Given the description of an element on the screen output the (x, y) to click on. 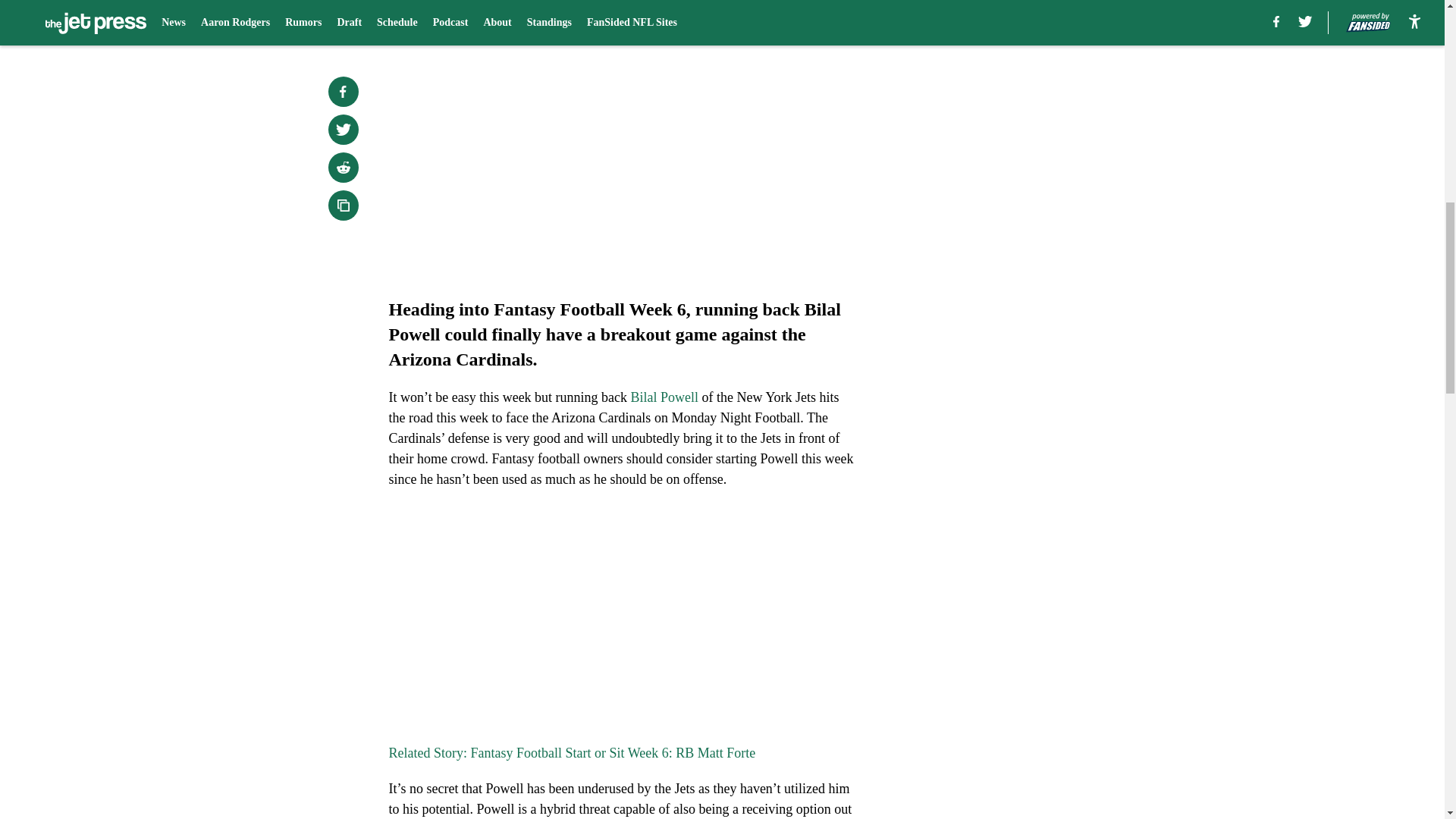
Bilal Powell (664, 396)
